Given the description of an element on the screen output the (x, y) to click on. 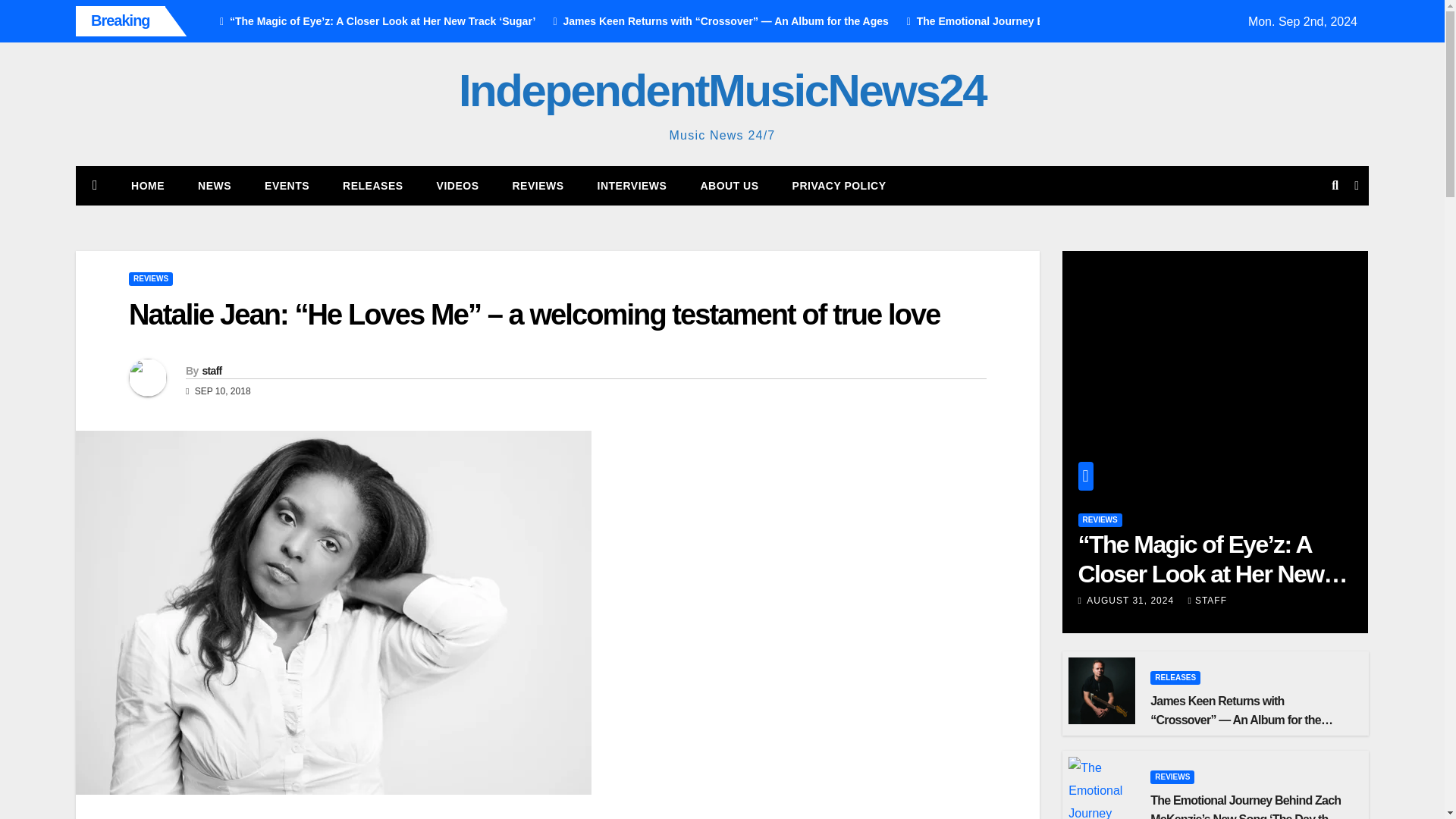
VIDEOS (458, 185)
Events (286, 185)
HOME (147, 185)
IndependentMusicNews24 (721, 90)
staff (211, 370)
REVIEWS (151, 278)
REVIEWS (537, 185)
ABOUT US (728, 185)
Reviews (537, 185)
About Us (728, 185)
